Given the description of an element on the screen output the (x, y) to click on. 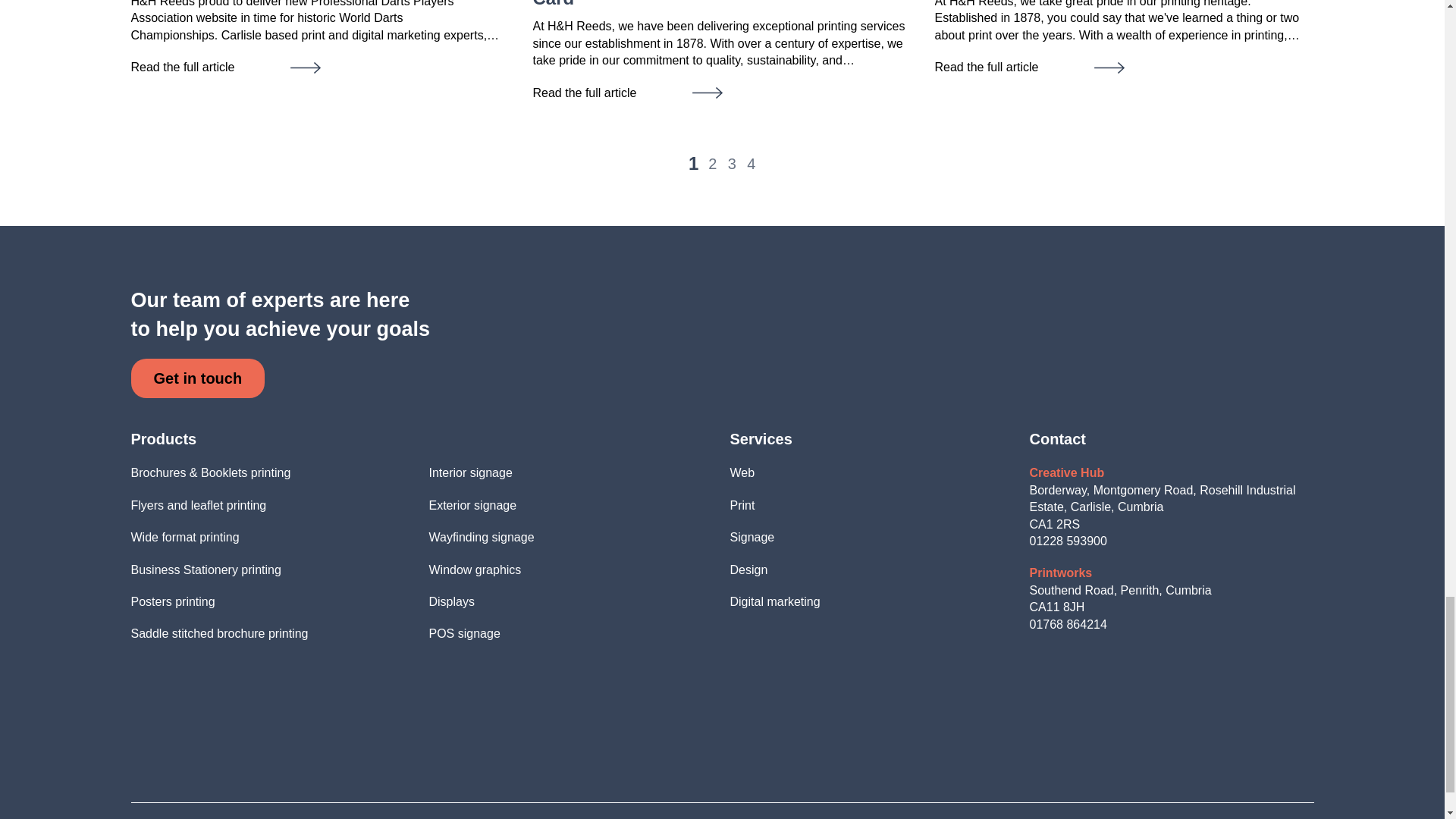
X (739, 775)
Facebook (705, 775)
Instagram (670, 775)
